Given the description of an element on the screen output the (x, y) to click on. 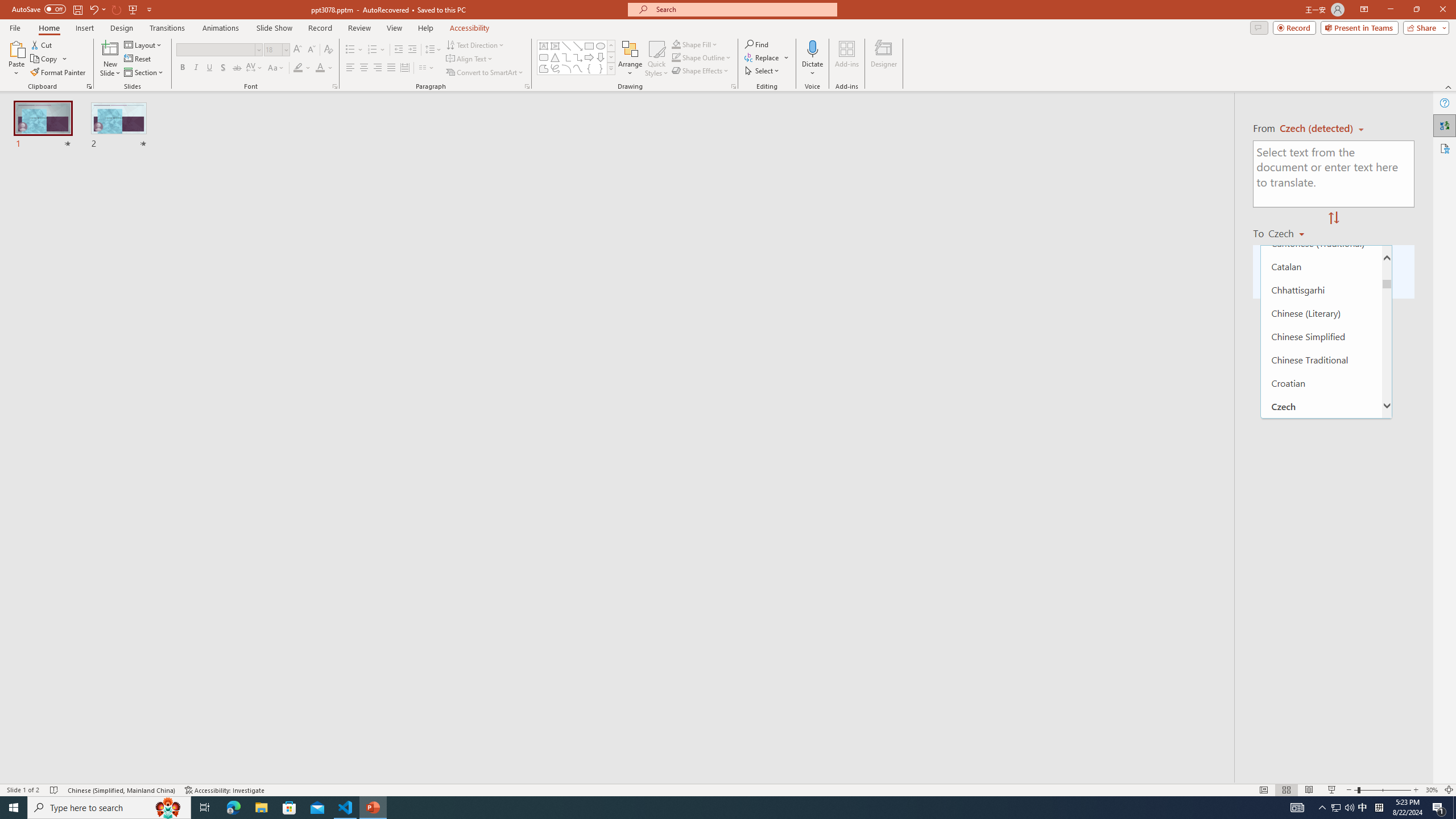
Chinese (Literary) (1320, 313)
Finnish (1320, 662)
Chhattisgarhi (1320, 289)
French (Canada) (1320, 708)
